Given the description of an element on the screen output the (x, y) to click on. 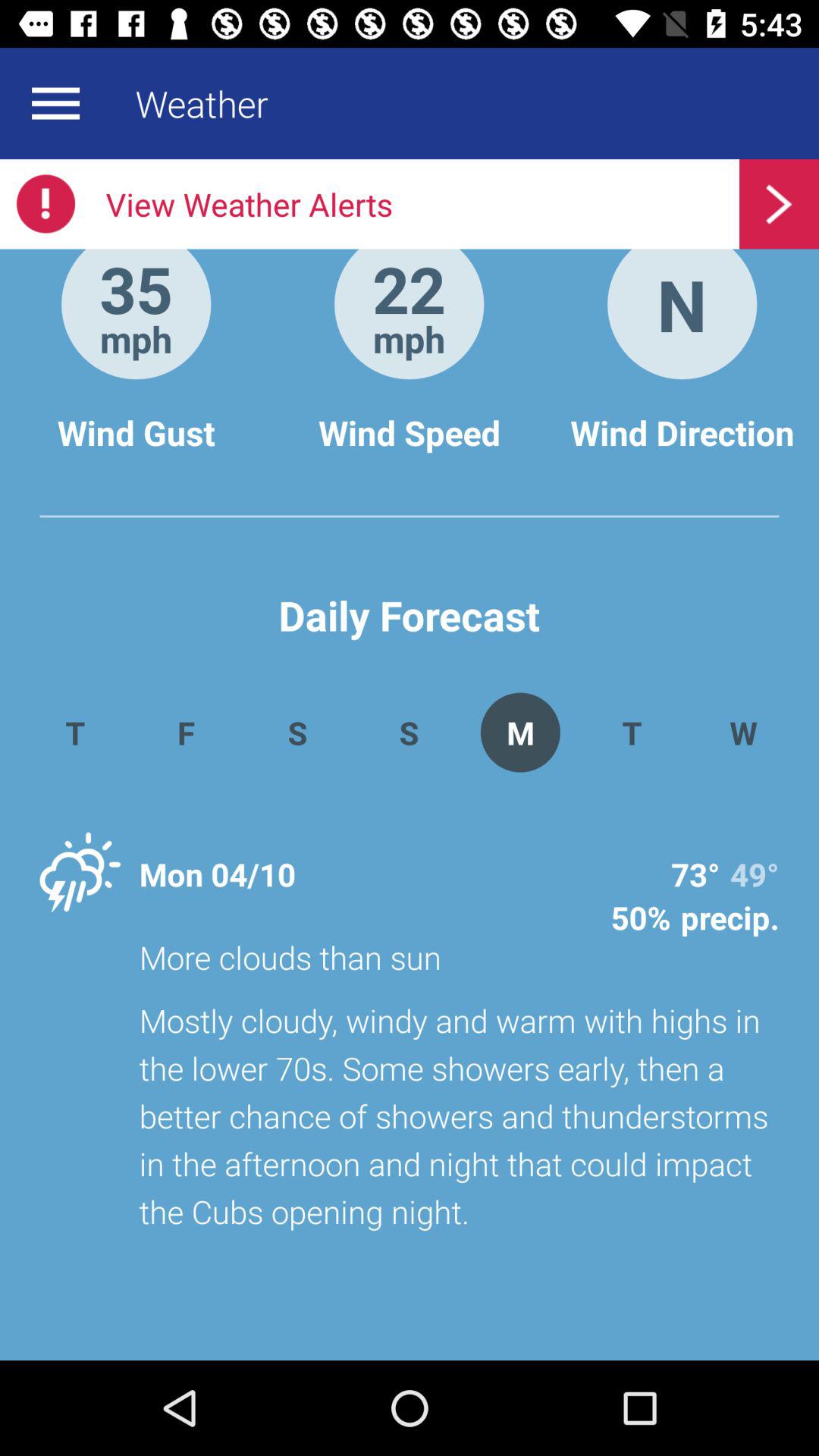
open the item next to s icon (520, 732)
